Given the description of an element on the screen output the (x, y) to click on. 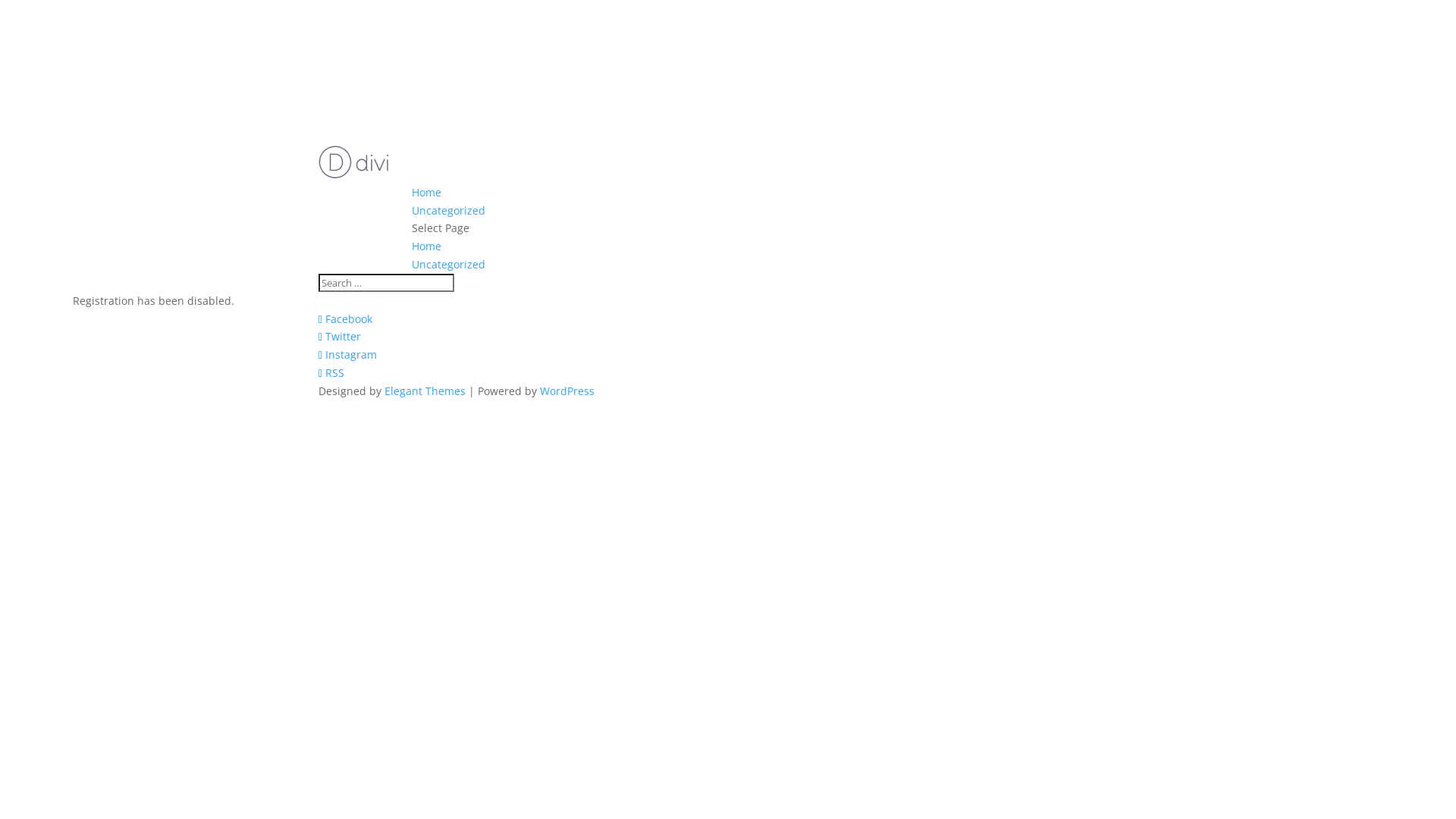
Twitter Element type: text (339, 336)
Uncategorized Element type: text (448, 264)
RSS Element type: text (331, 372)
WordPress Element type: text (566, 390)
Elegant Themes Element type: text (424, 390)
Instagram Element type: text (347, 354)
Facebook Element type: text (345, 318)
Home Element type: text (426, 245)
Home Element type: text (426, 192)
Uncategorized Element type: text (448, 210)
Search for: Element type: hover (386, 282)
